Given the description of an element on the screen output the (x, y) to click on. 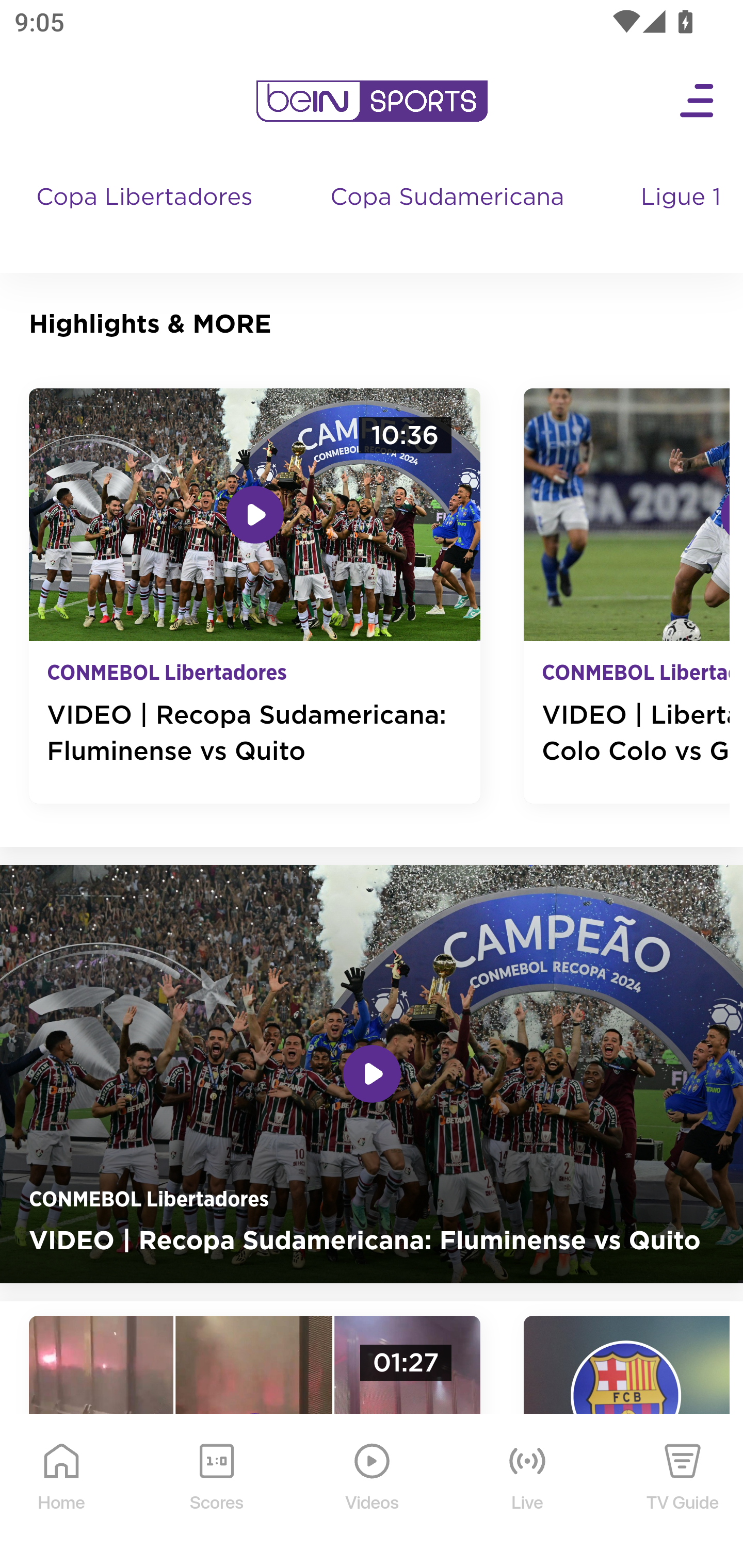
en-us?platform=mobile_android bein logo (371, 101)
Open Menu Icon (697, 101)
Copa Libertadores (146, 216)
Copa Sudamericana (448, 216)
Ligue 1 (682, 216)
Home Home Icon Home (61, 1491)
Scores Scores Icon Scores (216, 1491)
Videos Videos Icon Videos (372, 1491)
TV Guide TV Guide Icon TV Guide (682, 1491)
